Given the description of an element on the screen output the (x, y) to click on. 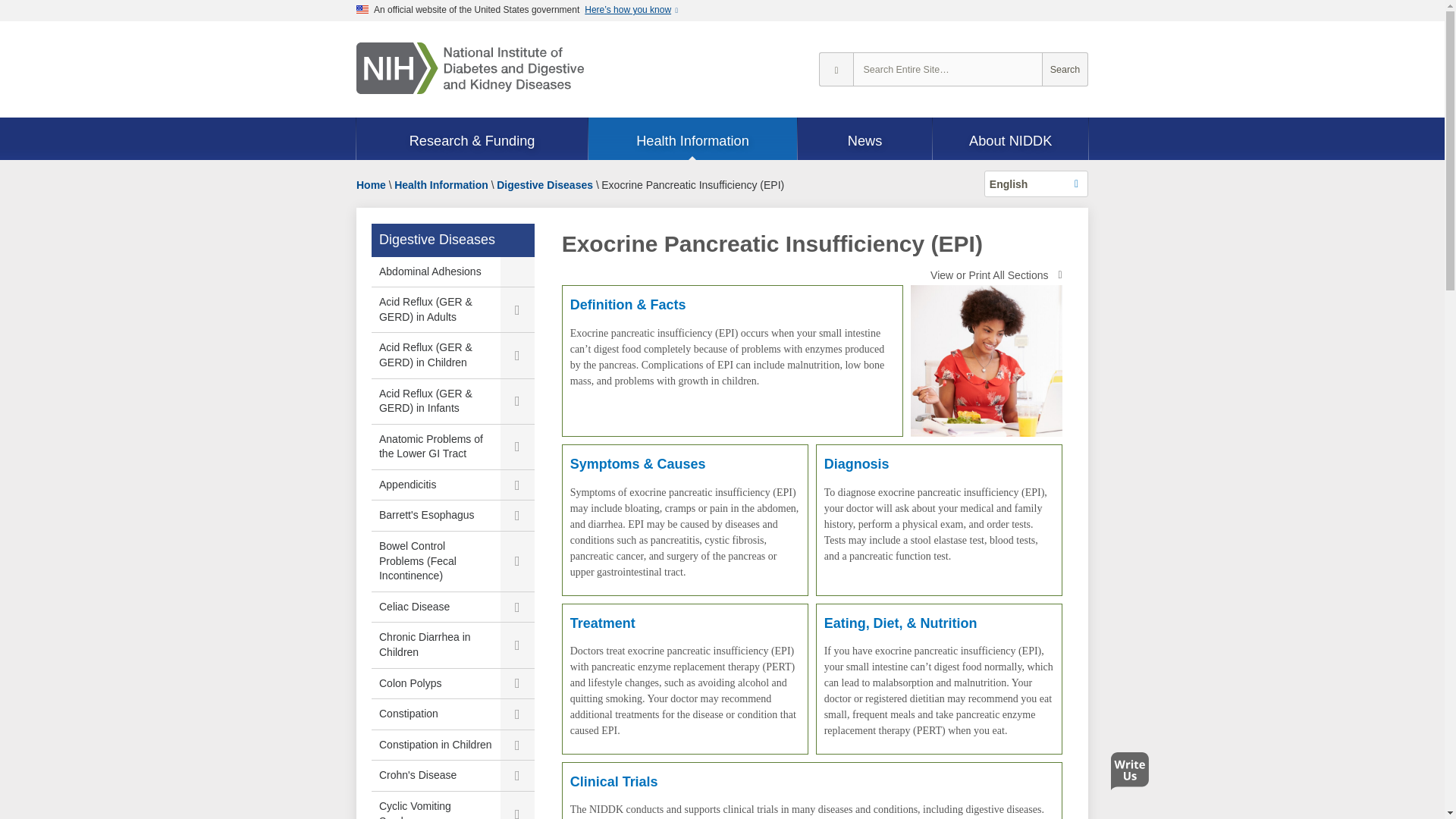
Skip to main content (7, 27)
Show child pages for "Barrett's Esophagus" (517, 515)
Show child pages for "Appendicitis" (517, 485)
Show child pages for "Constipation" (517, 714)
Show child pages for "Constipation in Children" (517, 745)
Show alternate languages for this page (1035, 183)
News (865, 139)
Show child pages for "Chronic Diarrhea in Children" (517, 644)
Show child pages for "Colon Polyps" (517, 684)
Show child pages for "Celiac Disease" (517, 607)
Search (1064, 69)
Change search scope (835, 69)
Search Entire Site (1064, 69)
Show child pages for "Crohn's Disease" (517, 775)
